Given the description of an element on the screen output the (x, y) to click on. 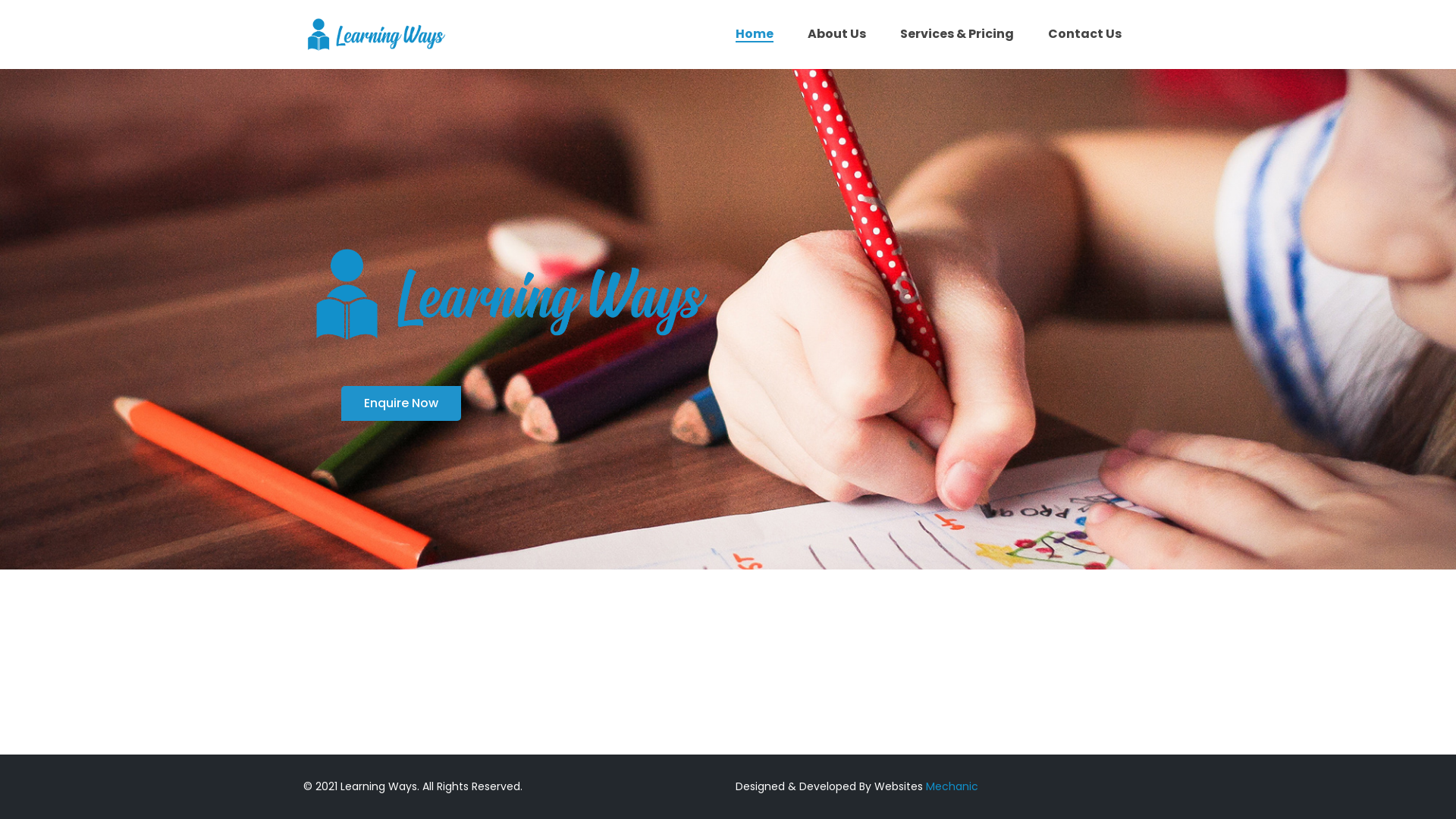
Contact Us Element type: text (1084, 33)
Mechanic Element type: text (951, 785)
About Us Element type: text (836, 33)
Enquire Now Element type: text (401, 402)
Home Element type: text (754, 33)
Services & Pricing Element type: text (956, 33)
